Given the description of an element on the screen output the (x, y) to click on. 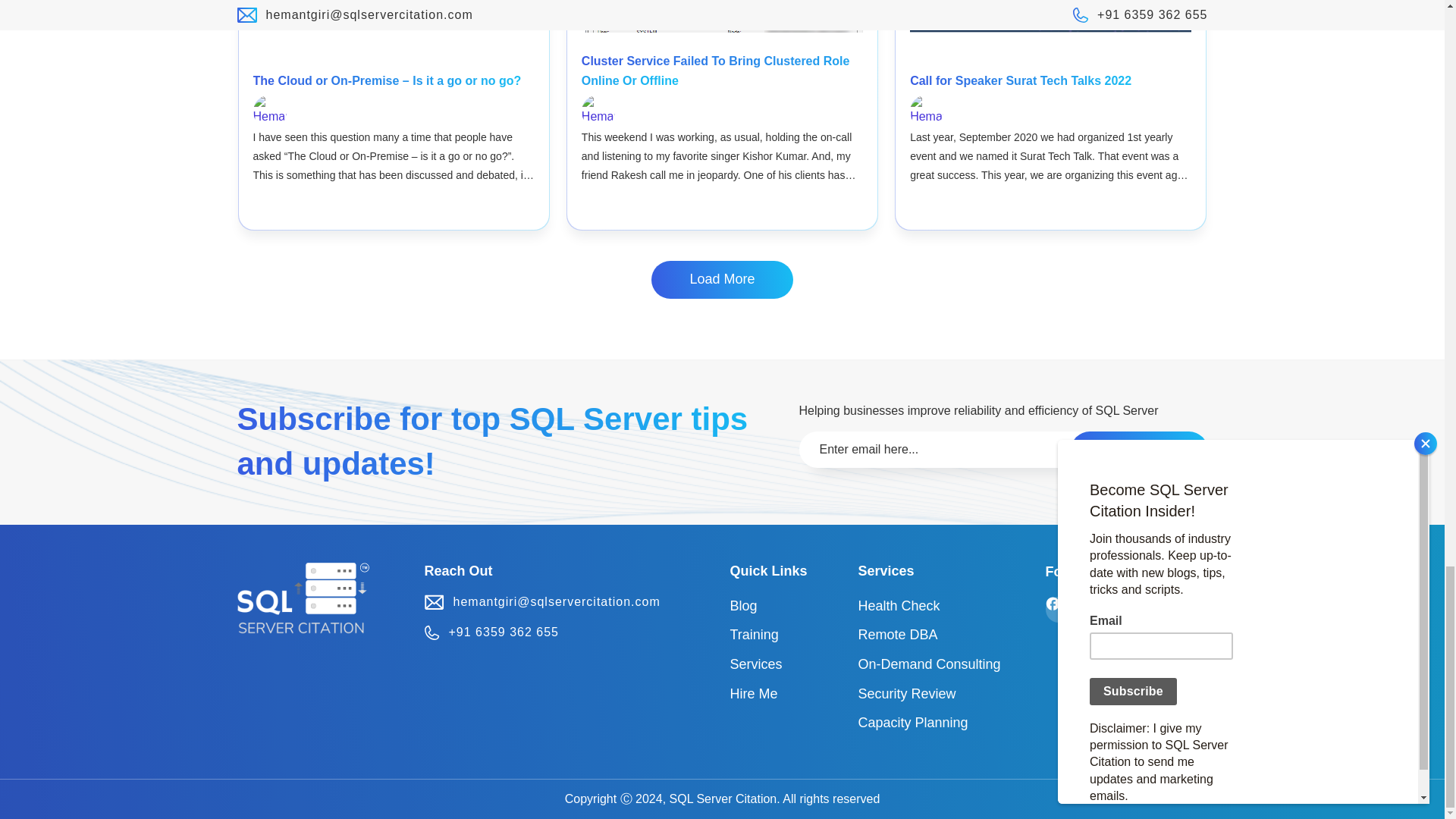
Subscribe (1138, 450)
Call for Speaker Surat Tech Talks 2022 (1020, 80)
